Given the description of an element on the screen output the (x, y) to click on. 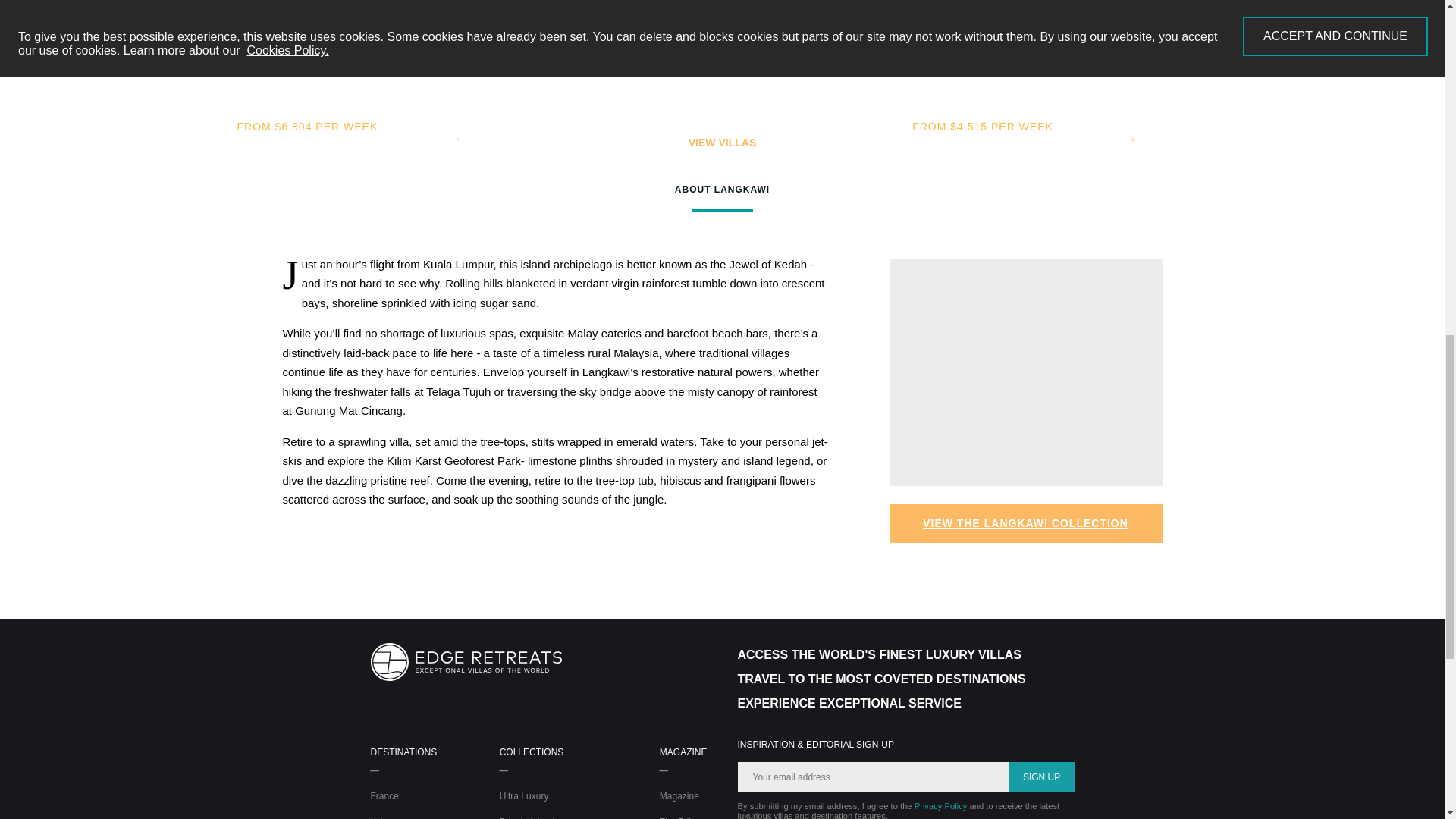
Ultra Luxury (523, 796)
Private Islands (529, 817)
VIEW DETAILS (1171, 51)
Langkawi (722, 67)
VIEW THE LANGKAWI COLLECTION (1024, 523)
France (383, 796)
VIEW DETAILS (495, 51)
Italy (378, 817)
VIEW VILLAS (721, 142)
